Given the description of an element on the screen output the (x, y) to click on. 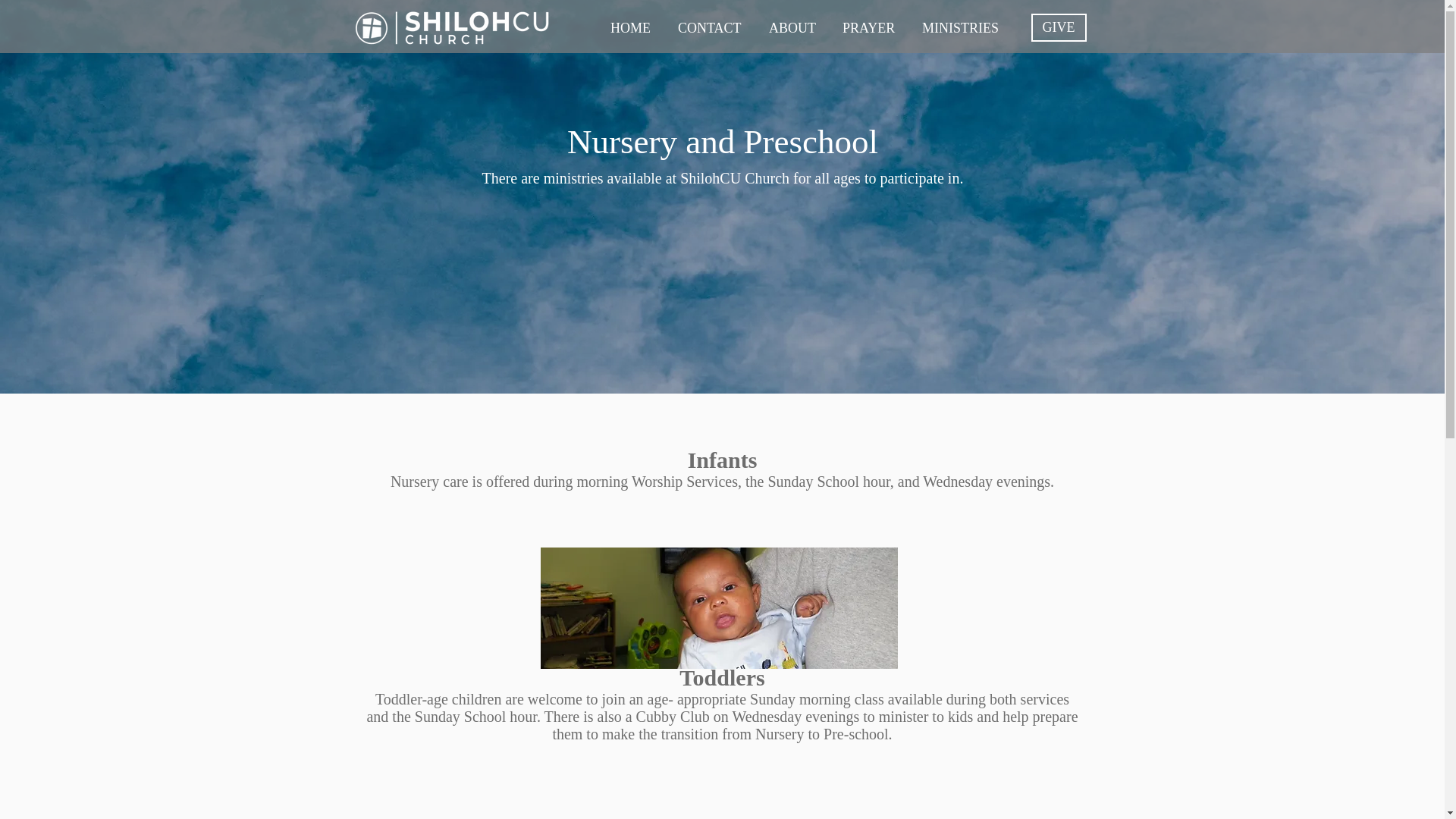
PRAYER (871, 28)
HOME (632, 28)
CONTACT (711, 28)
GIVE (1058, 27)
ABOUT (794, 28)
